Given the description of an element on the screen output the (x, y) to click on. 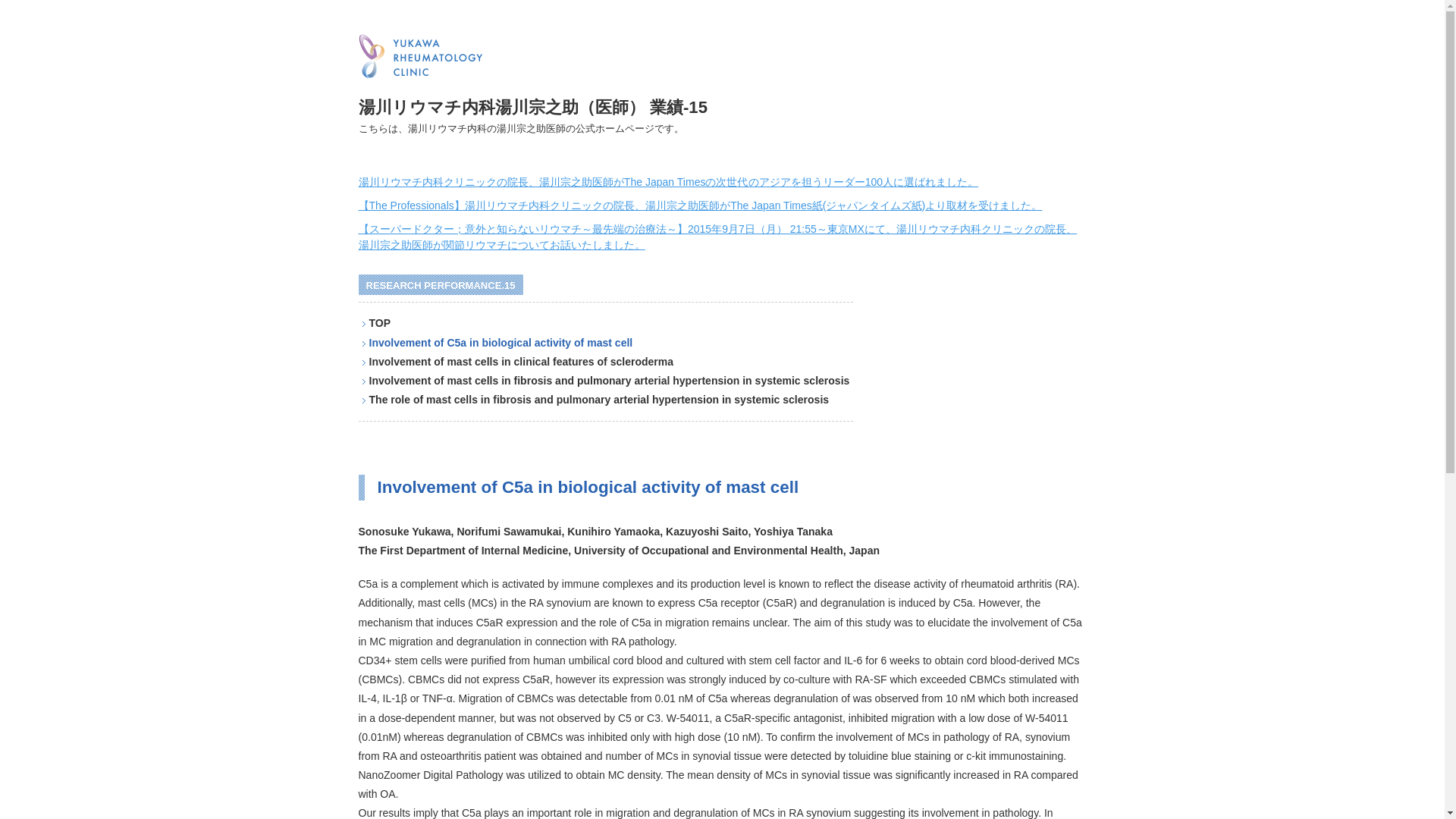
TOP (379, 322)
Involvement of C5a in biological activity of mast cell (499, 342)
